Given the description of an element on the screen output the (x, y) to click on. 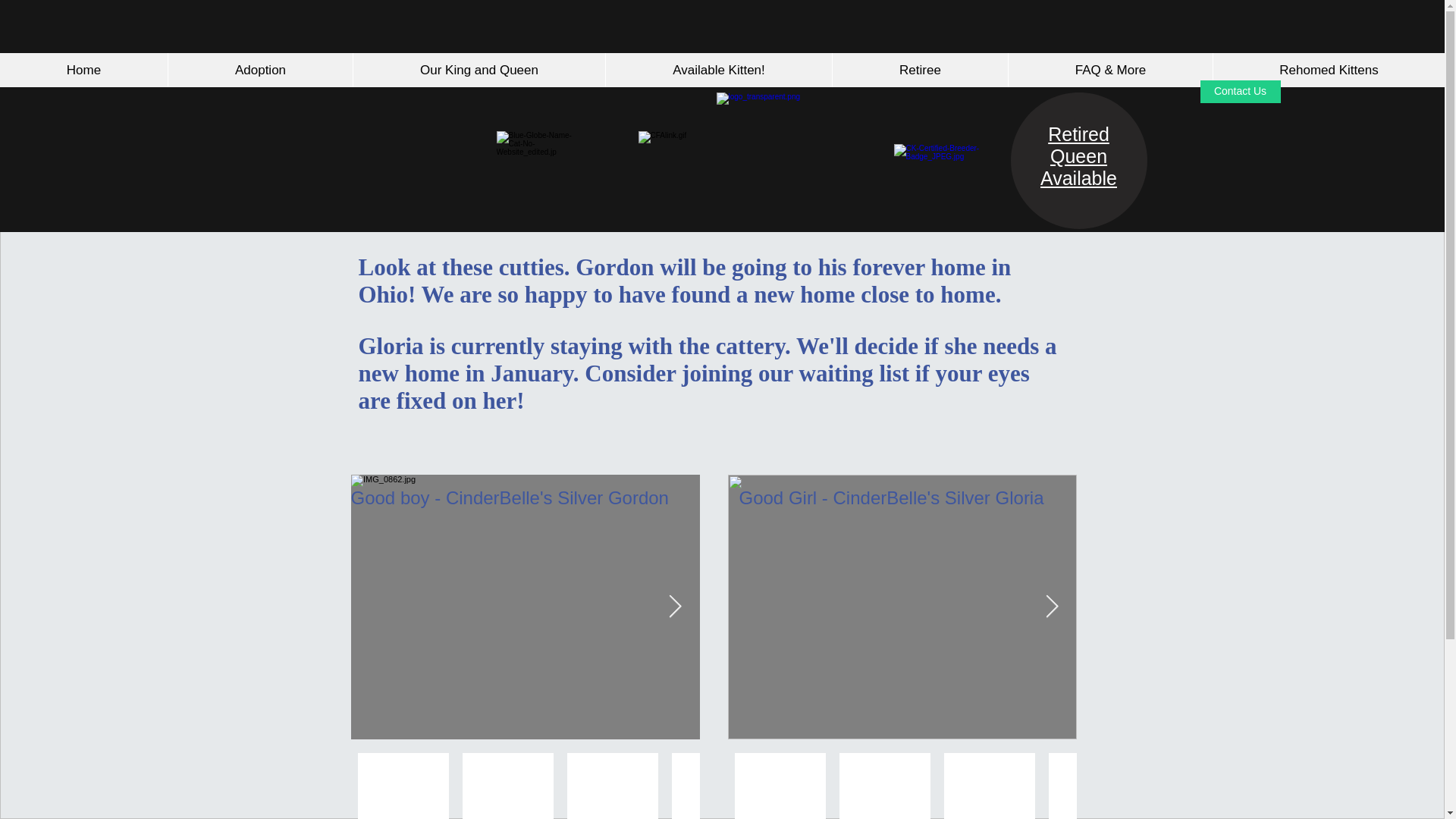
Adoption (259, 69)
Home (83, 69)
Our King and Queen (478, 69)
